Given the description of an element on the screen output the (x, y) to click on. 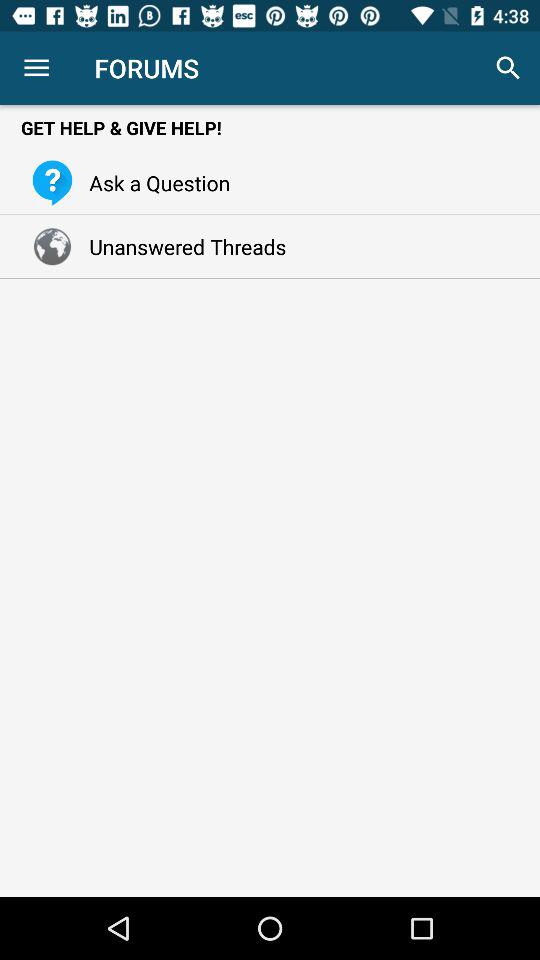
jump until get help give item (270, 127)
